Given the description of an element on the screen output the (x, y) to click on. 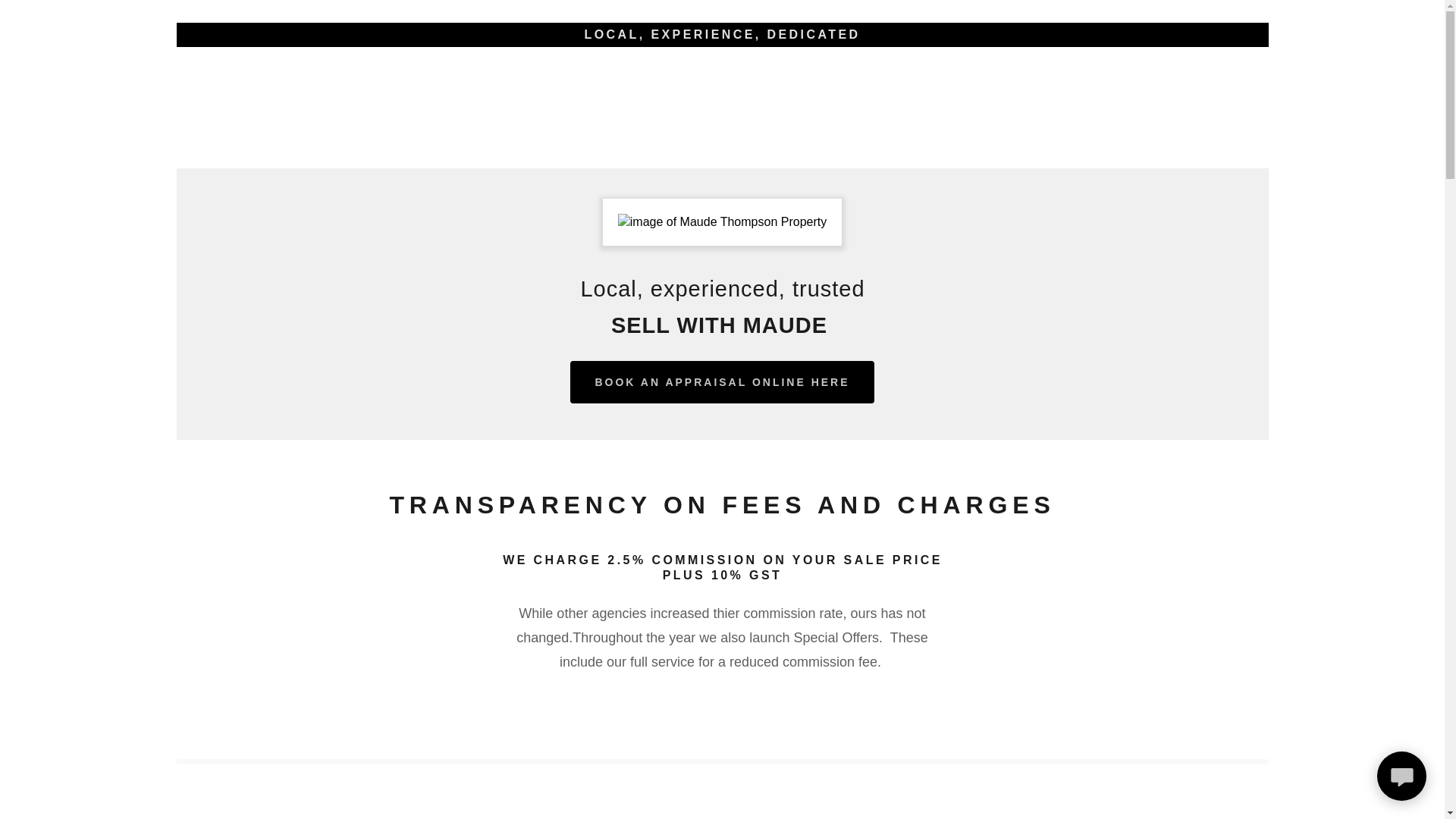
BOOK AN APPRAISAL ONLINE HERE Element type: text (721, 381)
